Given the description of an element on the screen output the (x, y) to click on. 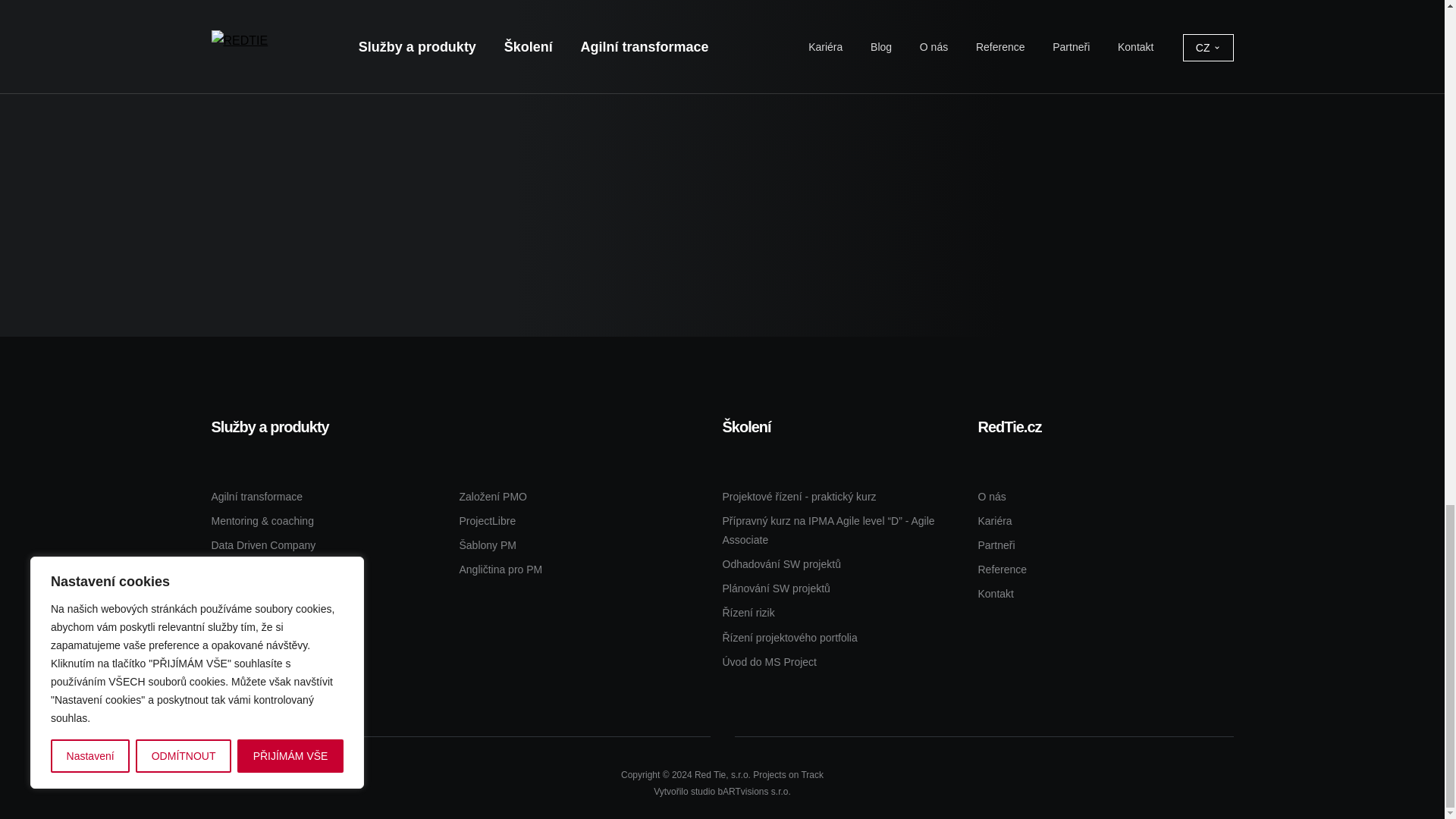
Data Driven Company (263, 544)
